Given the description of an element on the screen output the (x, y) to click on. 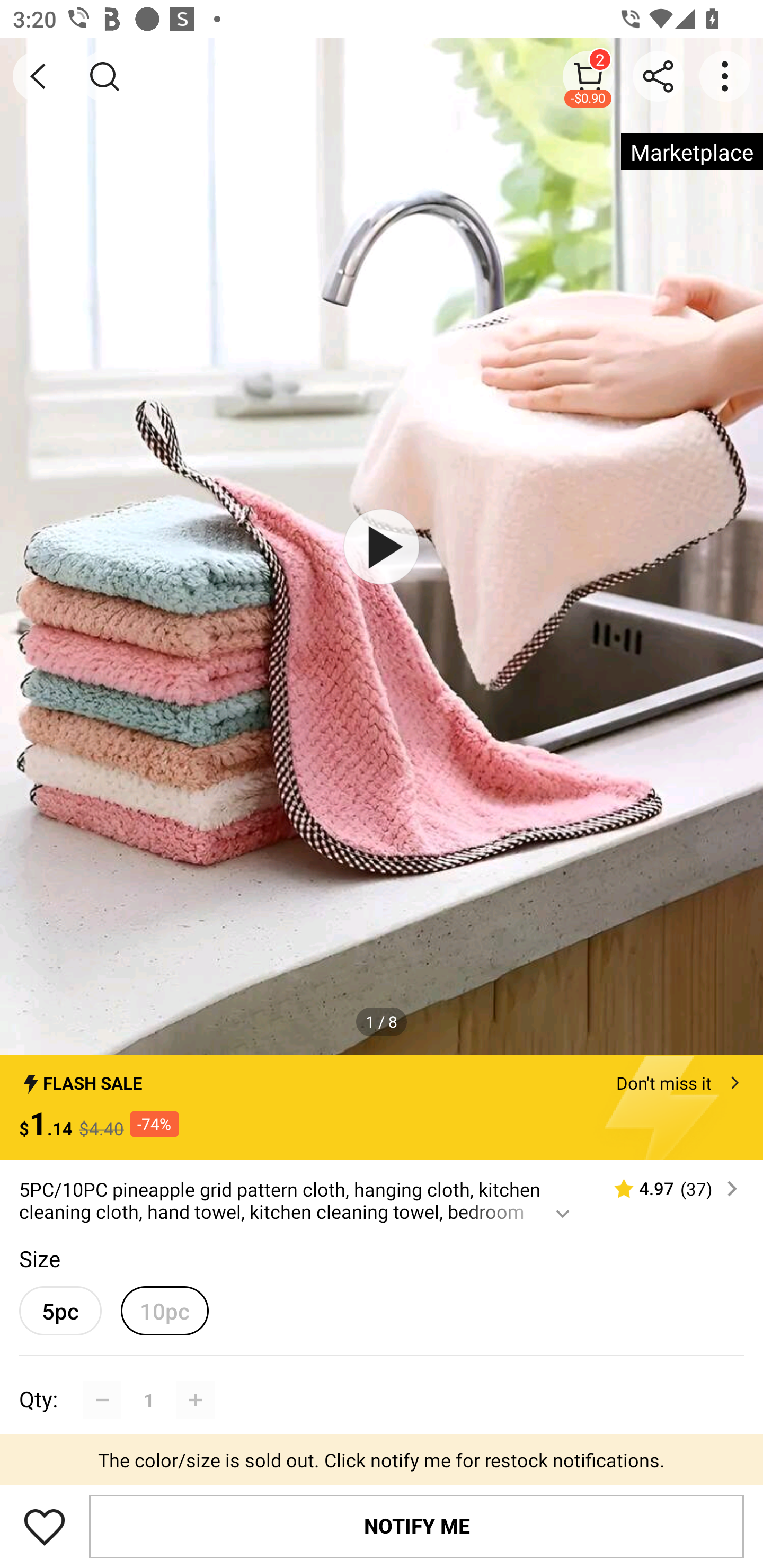
BACK (38, 75)
2 -$0.90 (588, 75)
1 / 8 (381, 1021)
FLASH SALE Don't miss it $1.14 $4.40 -74% (381, 1107)
FLASH SALE Don't miss it (381, 1077)
4.97 (37) (667, 1188)
Size (39, 1258)
5pc 5pcunselected option (60, 1310)
10pc (164, 1310)
Qty: 1 (381, 1380)
Promotion (381, 1464)
NOTIFY ME (416, 1526)
Save (44, 1526)
